Given the description of an element on the screen output the (x, y) to click on. 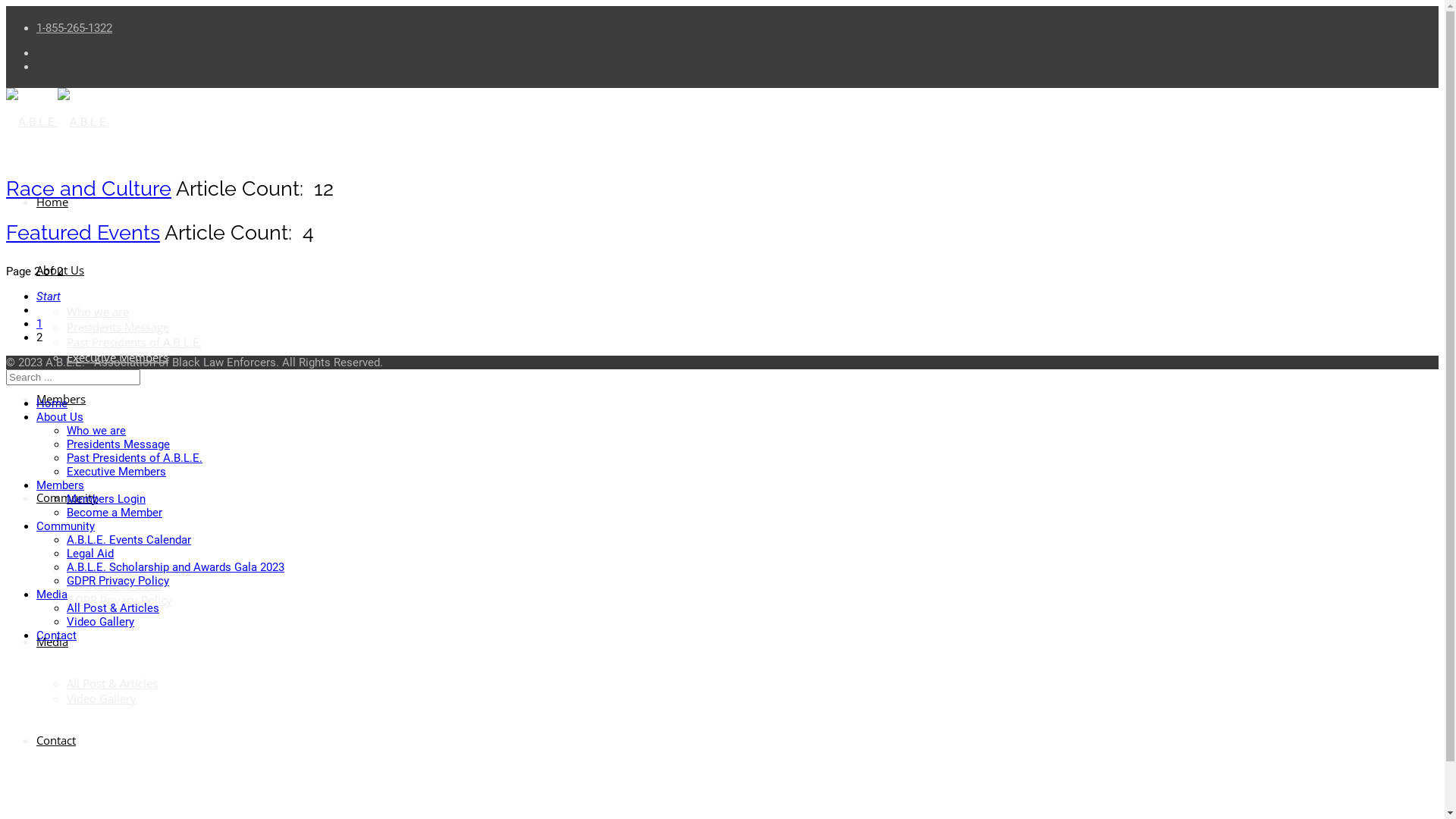
Past Presidents of A.B.L.E. Element type: text (134, 457)
GDPR Privacy Policy Element type: text (117, 580)
All Post & Articles Element type: text (111, 682)
A.B.L.E. Events Calendar Element type: text (128, 539)
Who we are Element type: text (95, 430)
Race and Culture Element type: text (88, 188)
Members Login Element type: text (105, 498)
About Us Element type: text (59, 416)
Legal Aid Element type: text (89, 553)
1 Element type: text (39, 323)
Start Element type: text (48, 296)
Members Element type: text (60, 398)
Who we are Element type: text (97, 311)
Members Login Element type: text (106, 440)
Home Element type: text (51, 403)
Legal Aid Element type: text (89, 553)
Executive Members Element type: text (117, 356)
Home Element type: text (52, 201)
Presidents Message Element type: text (117, 326)
Members Element type: text (60, 485)
Community Element type: text (66, 497)
Become a Member Element type: text (114, 512)
Past Presidents of A.B.L.E. Element type: text (133, 341)
Featured Events Element type: text (83, 232)
A.B.L.E. Scholarship and Awards Gala 2023 Element type: text (128, 576)
Media Element type: text (51, 594)
GDPR Privacy Policy Element type: text (119, 599)
Media Element type: text (52, 641)
Become a Member Element type: text (115, 455)
Executive Members Element type: text (116, 471)
About Us Element type: text (60, 269)
2 Element type: text (39, 337)
Contact Element type: text (55, 739)
Video Gallery Element type: text (101, 698)
All Post & Articles Element type: text (112, 608)
1-855-265-1322 Element type: text (74, 27)
A.B.L.E. Events Calendar Element type: text (128, 538)
Community Element type: text (65, 526)
Video Gallery Element type: text (100, 621)
Presidents Message Element type: text (117, 444)
A.B.L.E. Scholarship and Awards Gala 2023 Element type: text (175, 567)
Contact Element type: text (56, 635)
